Given the description of an element on the screen output the (x, y) to click on. 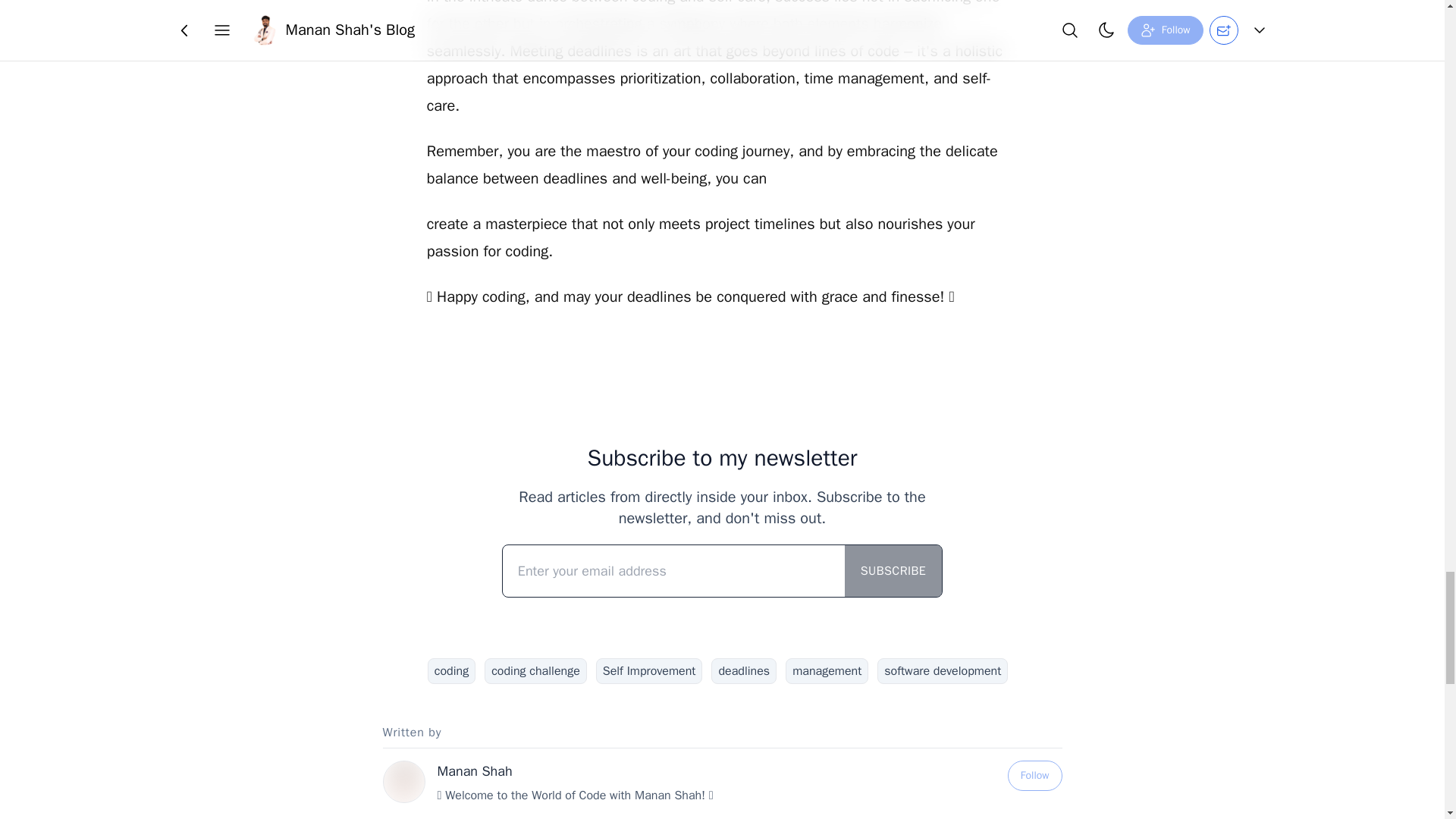
Self Improvement (649, 670)
coding challenge (535, 670)
deadlines (743, 670)
coding (452, 670)
management (826, 670)
SUBSCRIBE (893, 571)
Follow (1034, 775)
software development (942, 670)
Manan Shah (474, 770)
